Given the description of an element on the screen output the (x, y) to click on. 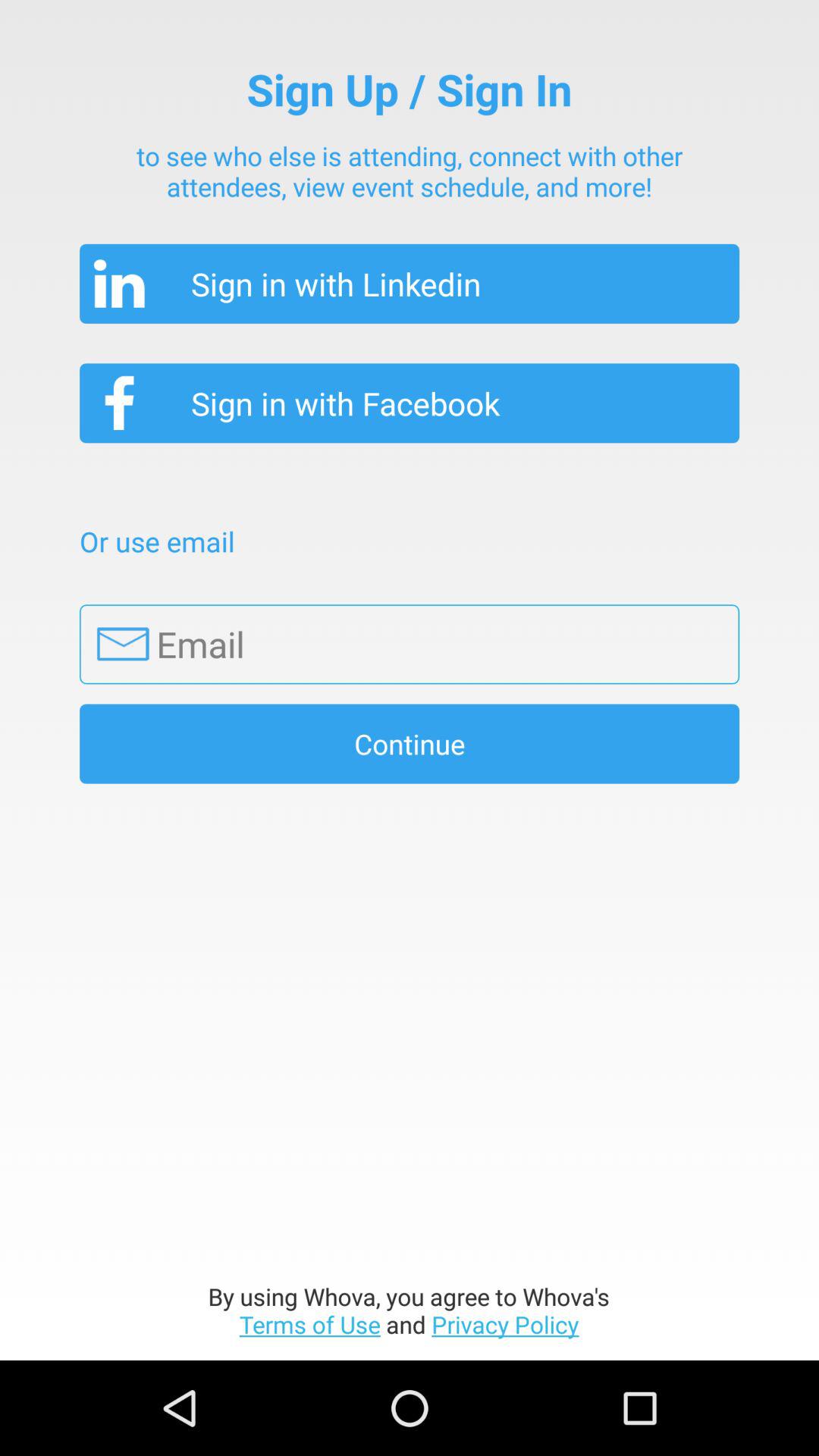
choose the icon below continue item (408, 1310)
